Given the description of an element on the screen output the (x, y) to click on. 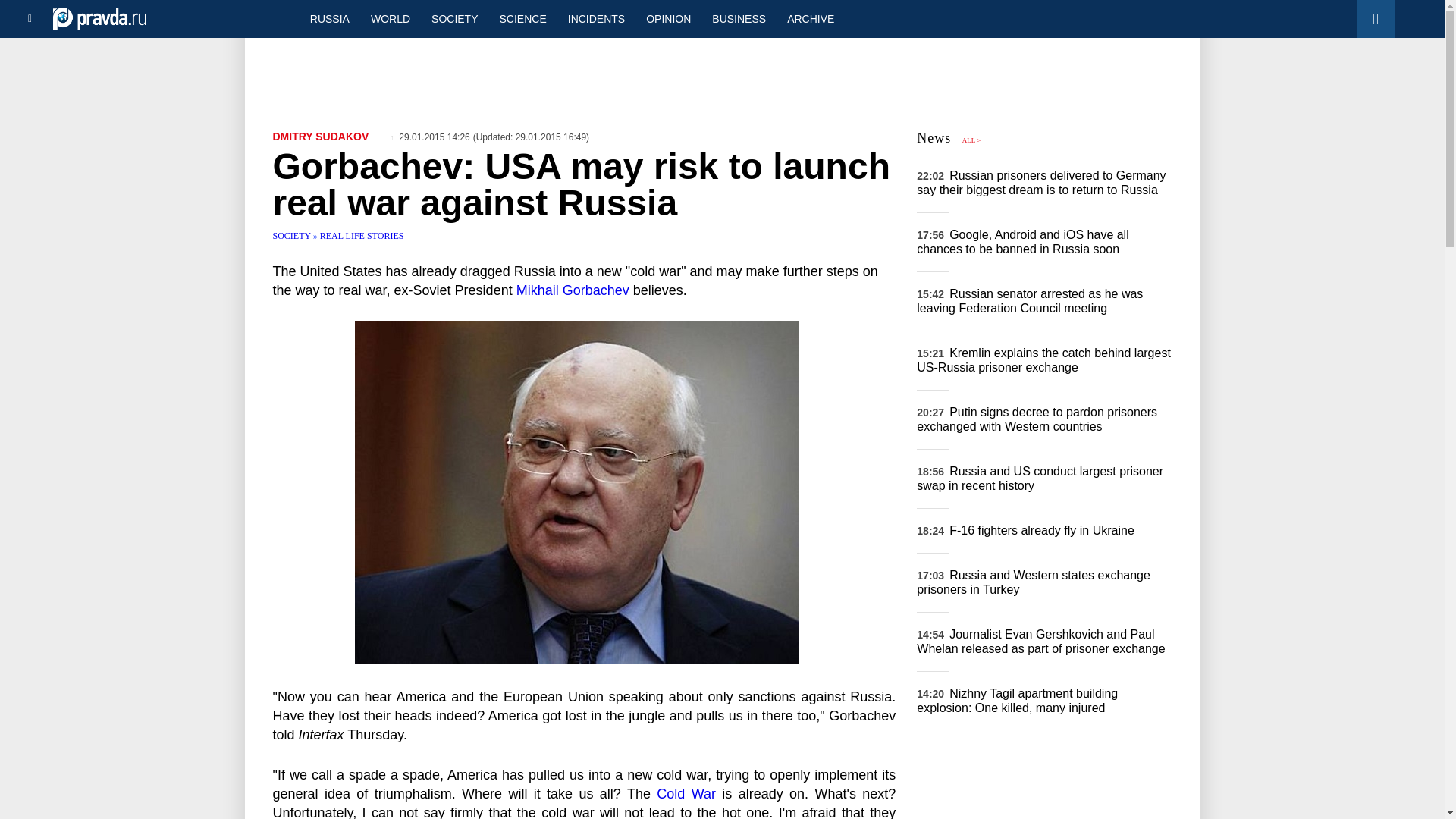
SCIENCE (523, 18)
Mikhail Gorbachev (572, 290)
SOCIETY (453, 18)
Cold War (686, 793)
SOCIETY (293, 235)
WORLD (389, 18)
DMITRY SUDAKOV (321, 136)
REAL LIFE STORIES (362, 235)
News (933, 137)
ARCHIVE (810, 18)
INCIDENTS (595, 18)
BUSINESS (738, 18)
OPINION (667, 18)
